Given the description of an element on the screen output the (x, y) to click on. 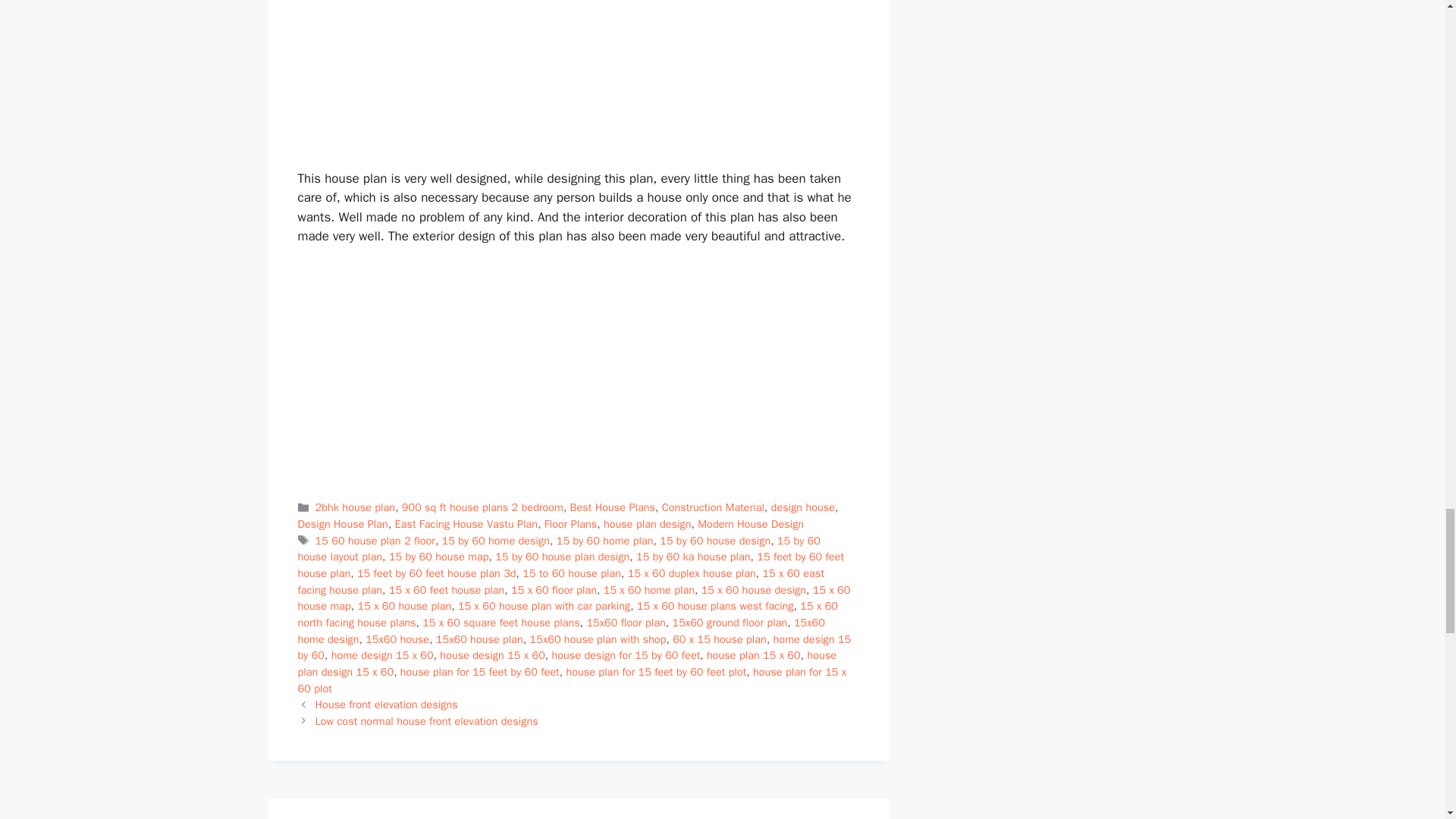
900 sq ft house plans 2 bedroom (482, 507)
design house (802, 507)
Construction Material (713, 507)
Design House Plan (342, 523)
Best House Plans (612, 507)
2bhk house plan (355, 507)
Advertisement (578, 81)
